Given the description of an element on the screen output the (x, y) to click on. 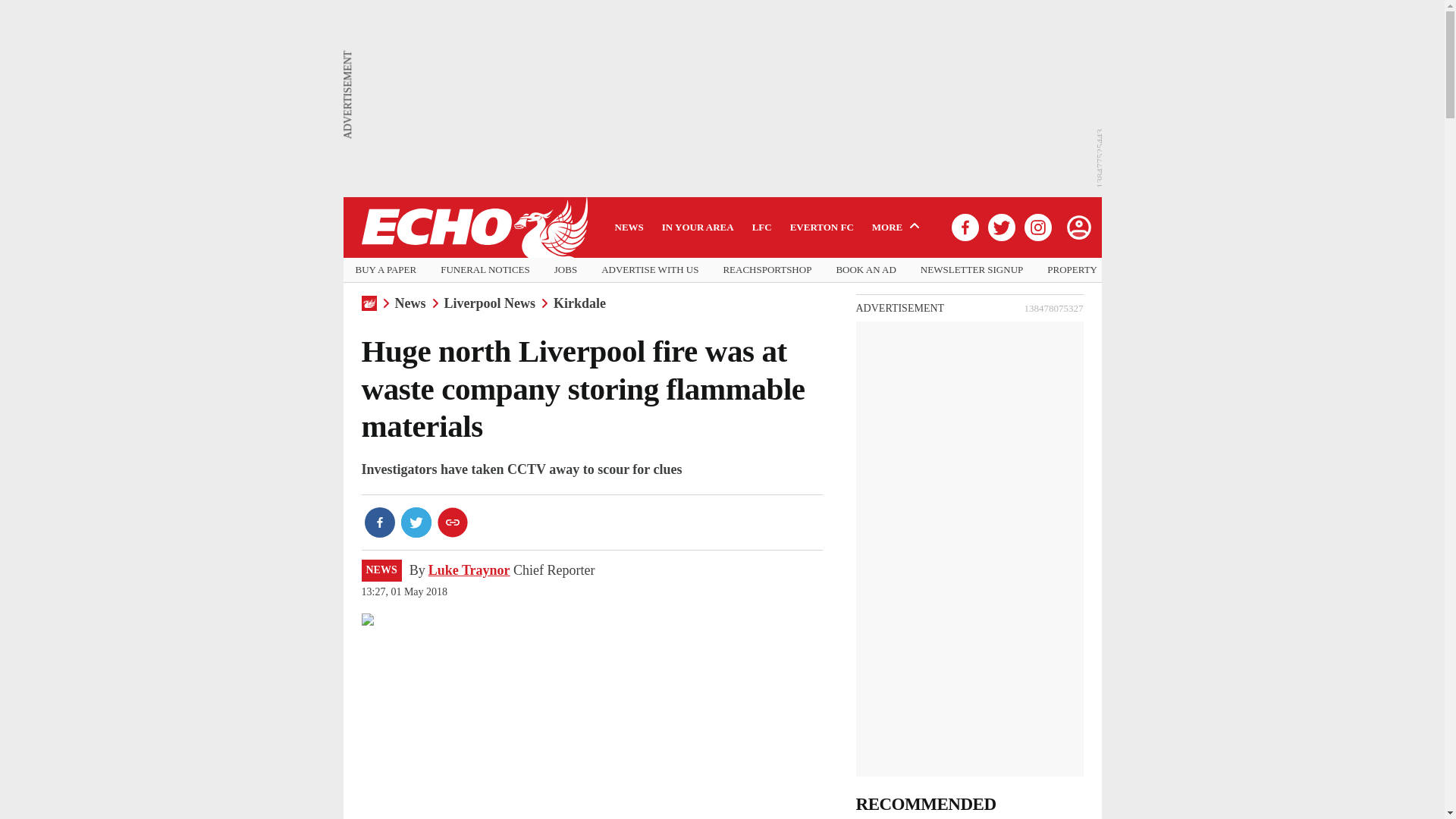
JOBS (565, 270)
BUY A PAPER (385, 270)
MORE (897, 227)
Luke Traynor (469, 570)
NEWSLETTER SIGNUP (971, 270)
Kirkdale (579, 303)
EVERTON FC (821, 227)
News (409, 303)
PROPERTY (1071, 270)
ADVERTISE WITH US (649, 270)
IN YOUR AREA (697, 227)
Go to the Liverpool Echo homepage (473, 227)
copy link (451, 521)
BOOK AN AD (865, 270)
